Given the description of an element on the screen output the (x, y) to click on. 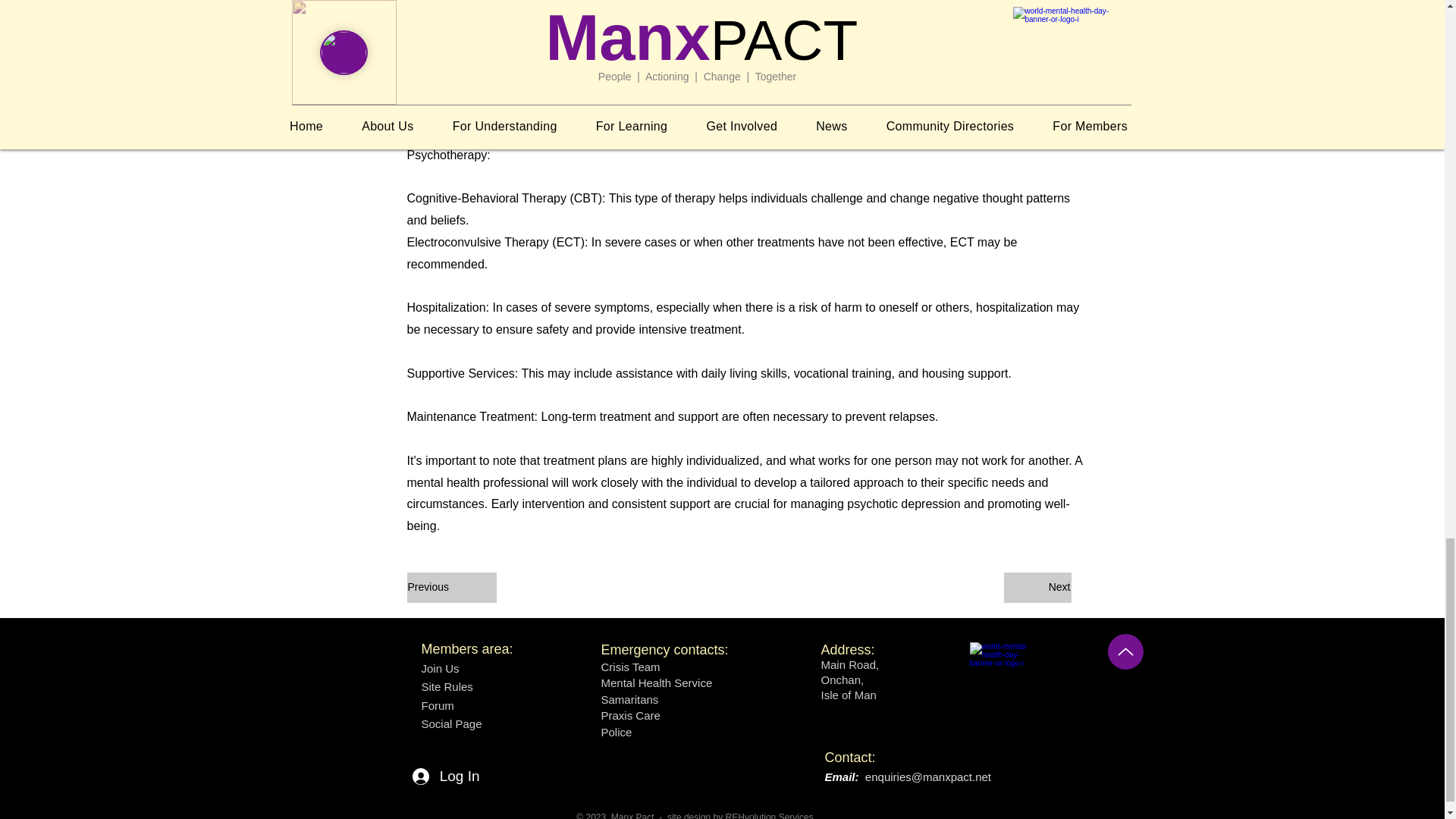
world-mental-health-day-banner-or-logo-i (1005, 671)
